Given the description of an element on the screen output the (x, y) to click on. 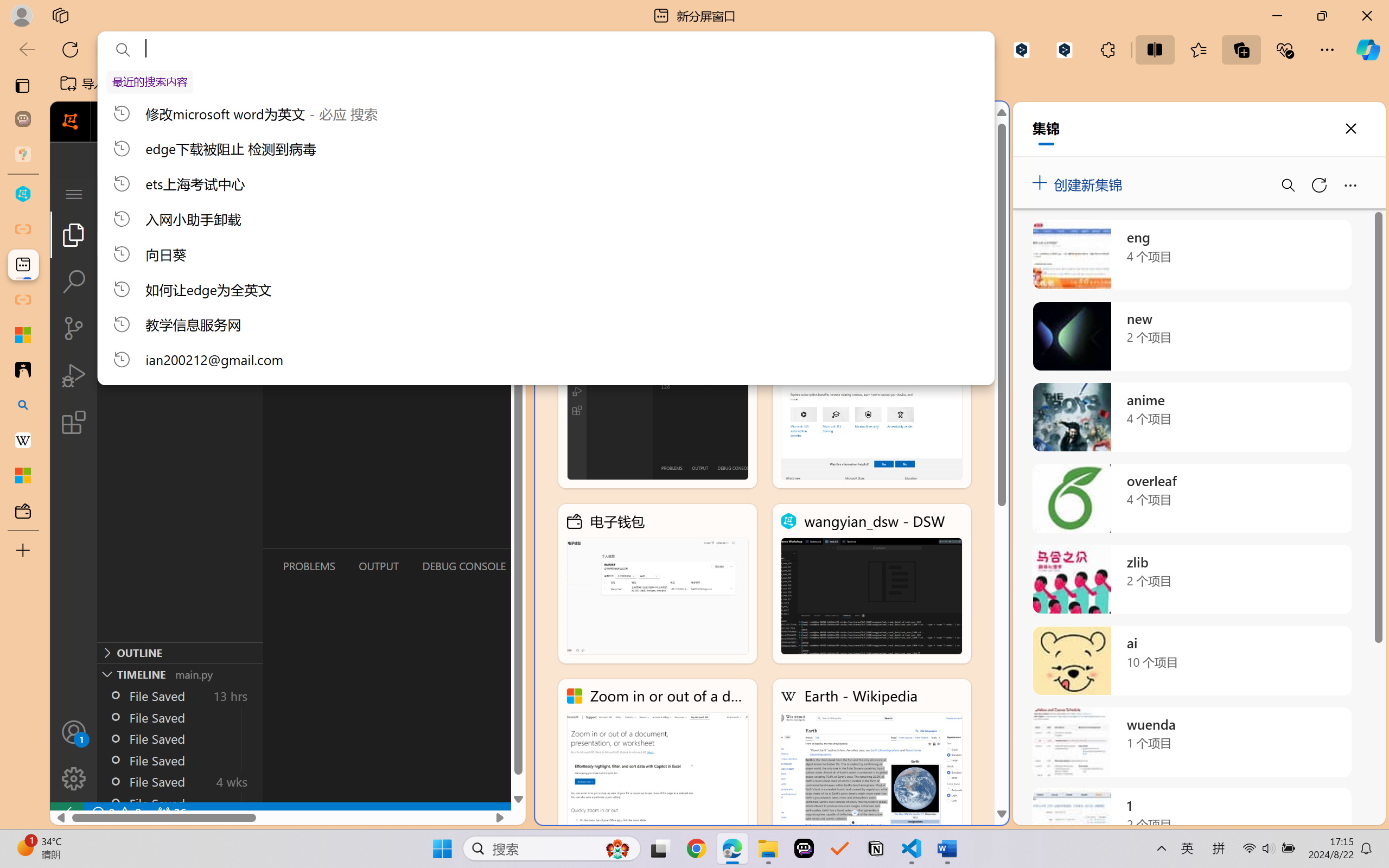
Adjust indents and spacing - Microsoft Support (22, 334)
Terminal (Ctrl+`) (553, 565)
Adjust indents and spacing - Microsoft Support (871, 408)
Output (Ctrl+Shift+U) (377, 565)
Run and Debug (Ctrl+Shift+D) (73, 375)
Transformer Circuits Thread (680, 83)
Class: menubar compact overflow-menu-only (73, 194)
